Given the description of an element on the screen output the (x, y) to click on. 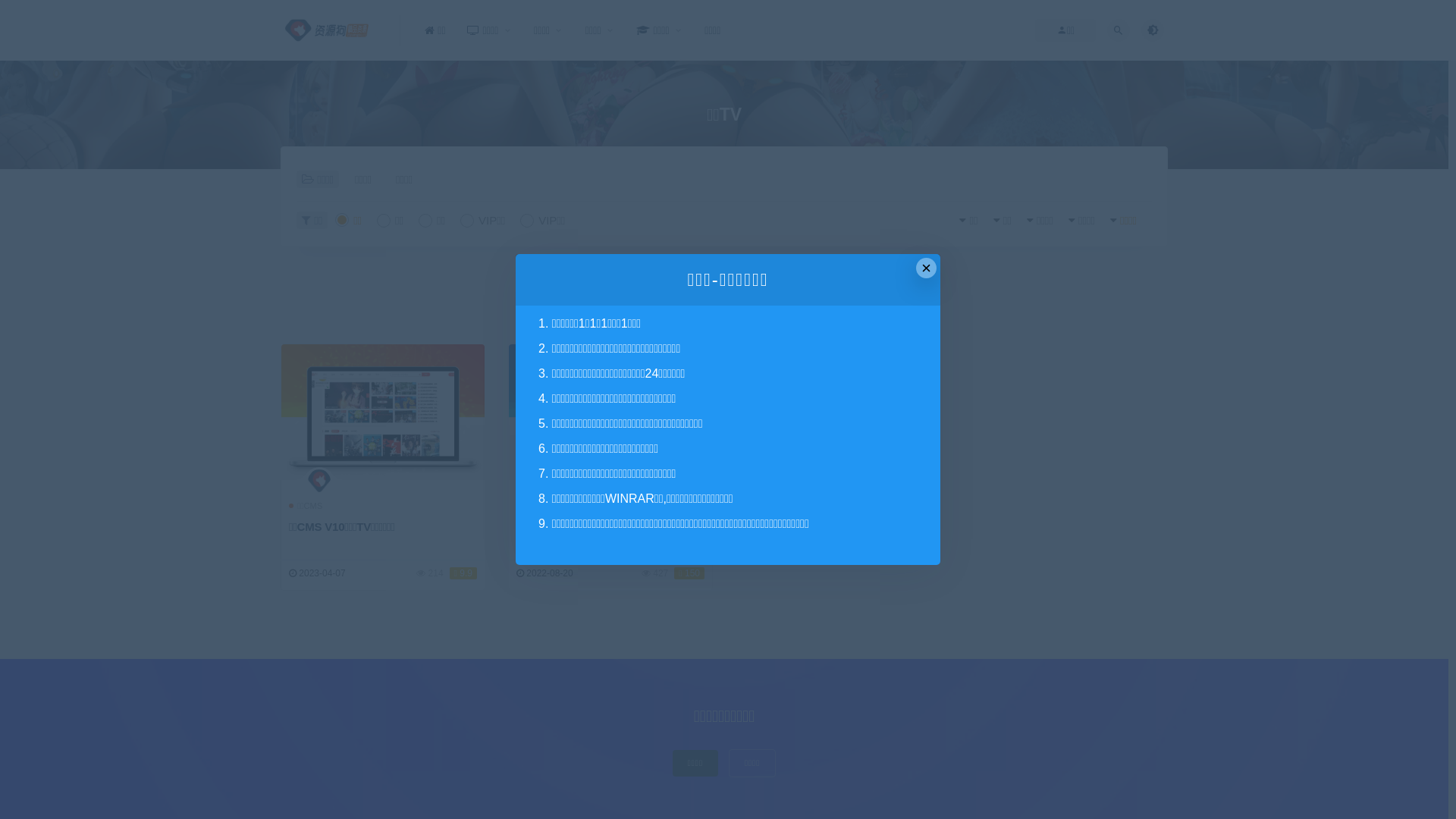
Advertisement Element type: hover (735, 303)
